Given the description of an element on the screen output the (x, y) to click on. 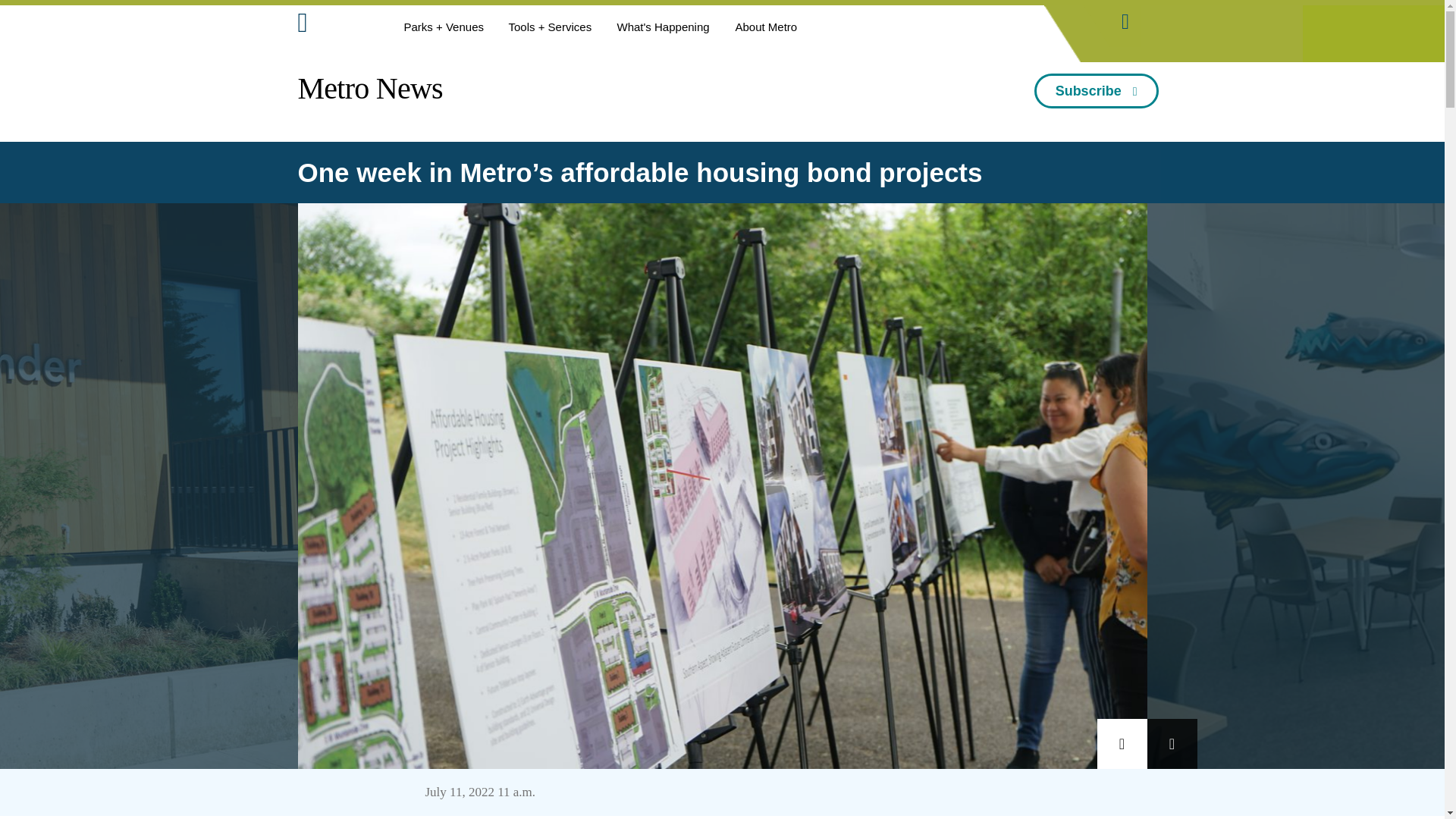
Metro (335, 25)
